Given the description of an element on the screen output the (x, y) to click on. 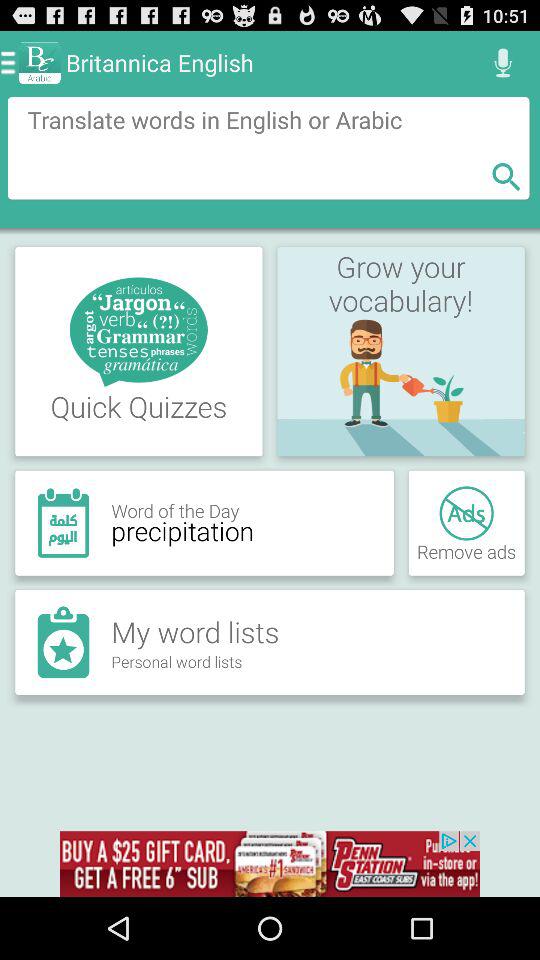
the logo left to britannica english at the top of the page (39, 62)
the image shown below vocabulary (401, 387)
click on the first image in the first row (138, 332)
